Given the description of an element on the screen output the (x, y) to click on. 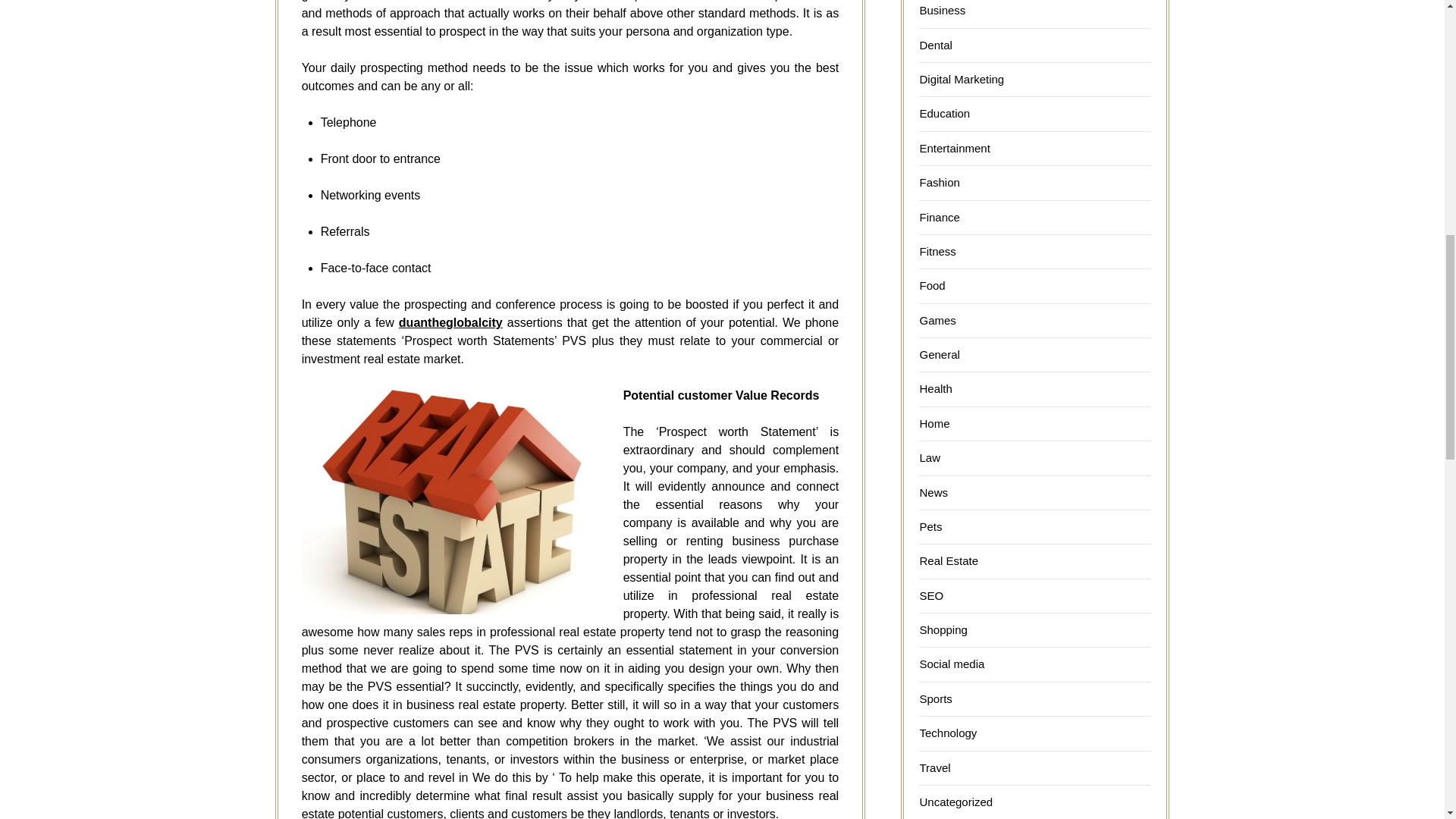
Entertainment (954, 147)
duantheglobalcity (450, 322)
Pets (930, 526)
Social media (951, 663)
Real Estate (948, 560)
Business (941, 10)
Technology (947, 732)
Law (929, 457)
Education (943, 113)
General (938, 354)
SEO (930, 594)
Finance (938, 216)
Games (936, 319)
Uncategorized (955, 801)
Sports (935, 698)
